Given the description of an element on the screen output the (x, y) to click on. 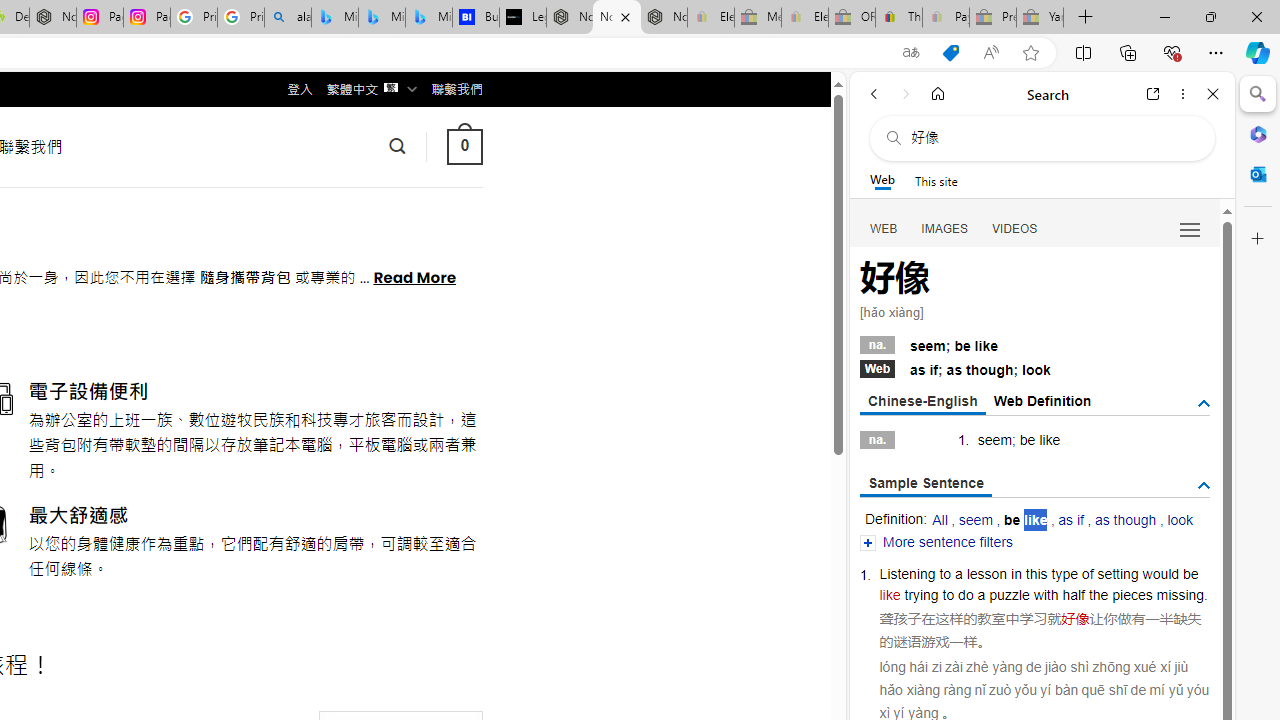
Yard, Garden & Outdoor Living - Sleeping (1040, 17)
Web Definition (1042, 400)
WEB (884, 228)
